Given the description of an element on the screen output the (x, y) to click on. 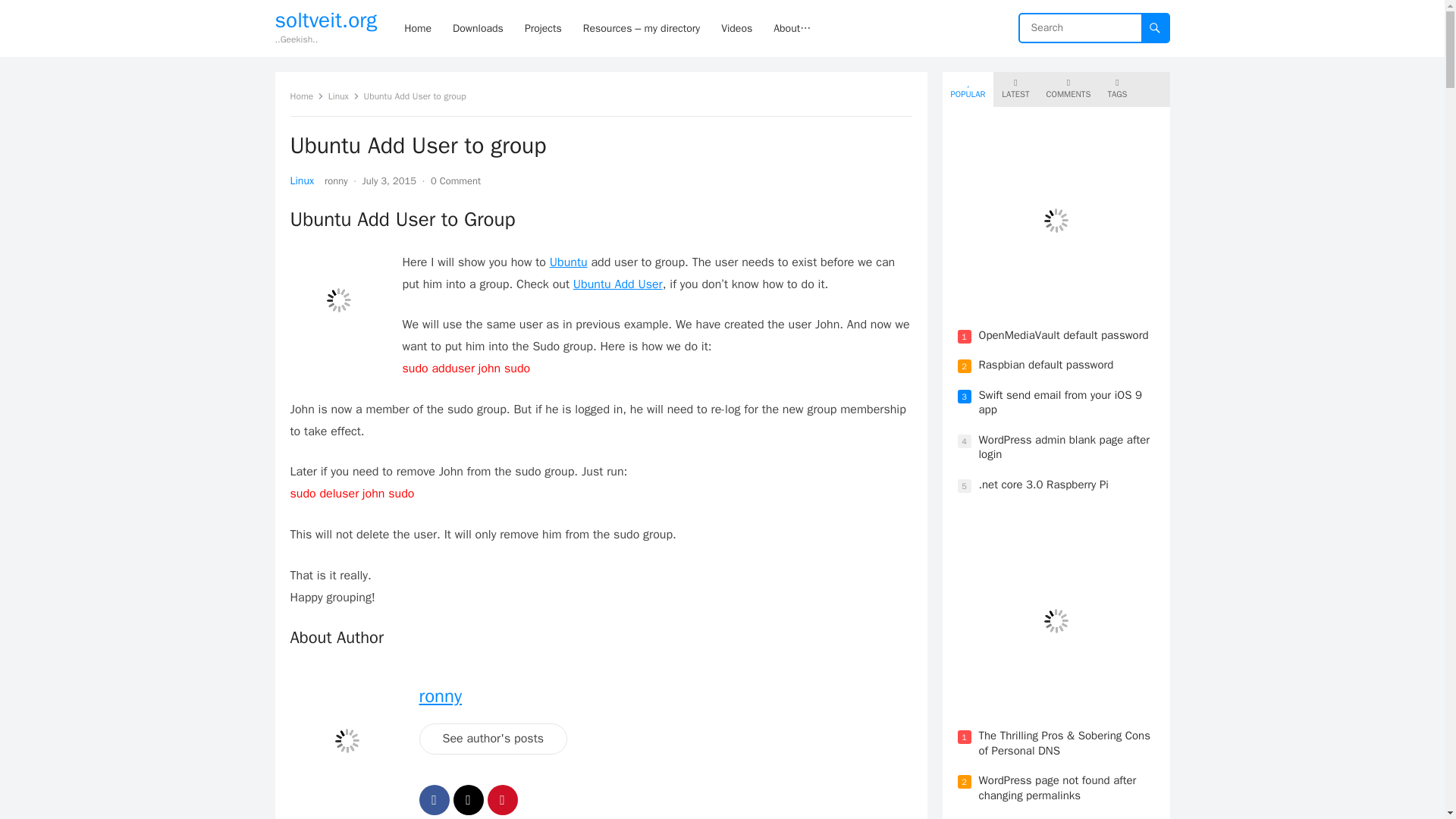
Comments (1068, 88)
ronny (335, 180)
0 Comment (455, 180)
Latest (1015, 88)
ronny (440, 695)
soltveit.org (326, 20)
Ubuntu (569, 262)
See author's posts (493, 738)
Projects (542, 28)
Downloads (478, 28)
